Given the description of an element on the screen output the (x, y) to click on. 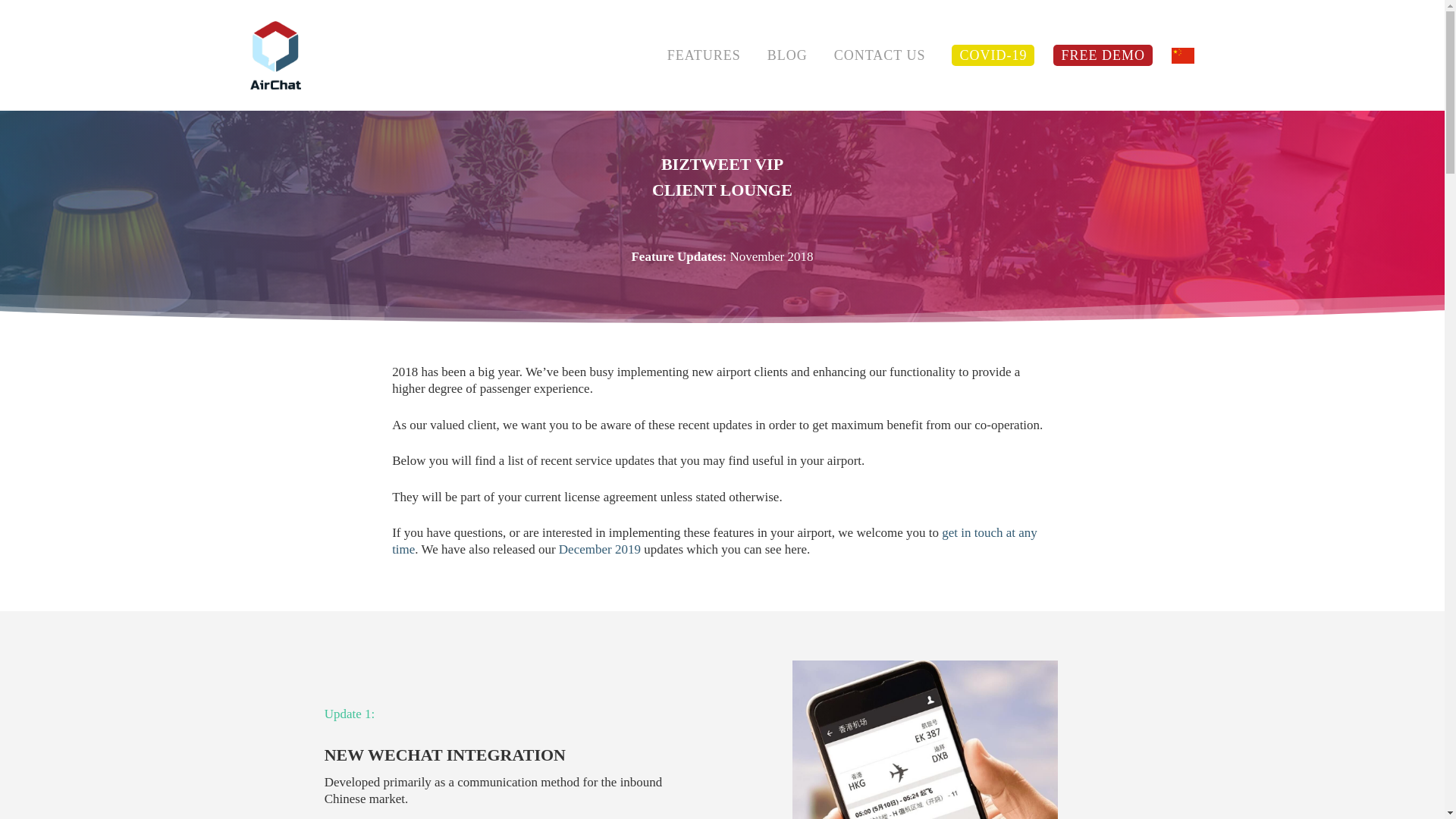
COVID-19 (992, 55)
BLOG (787, 55)
CONTACT US (880, 55)
get in touch at any time (713, 540)
December 2019 (599, 549)
FREE DEMO (1102, 55)
FEATURES (703, 55)
